Given the description of an element on the screen output the (x, y) to click on. 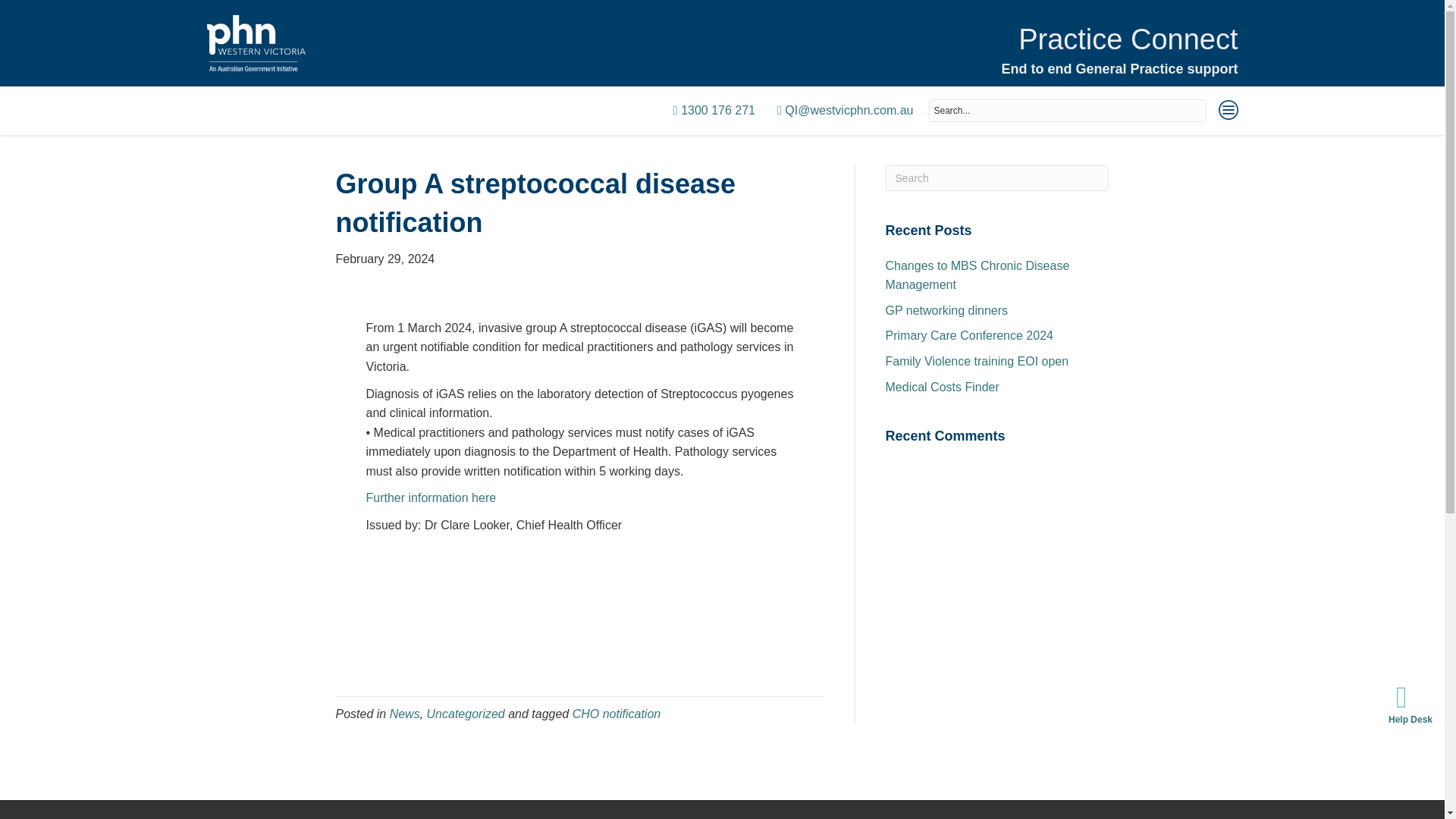
Practice Connect (1127, 39)
Type and press Enter to search. (997, 177)
1300 176 271 (713, 110)
WestVic PHN (255, 43)
Practice Connect (1127, 39)
